Given the description of an element on the screen output the (x, y) to click on. 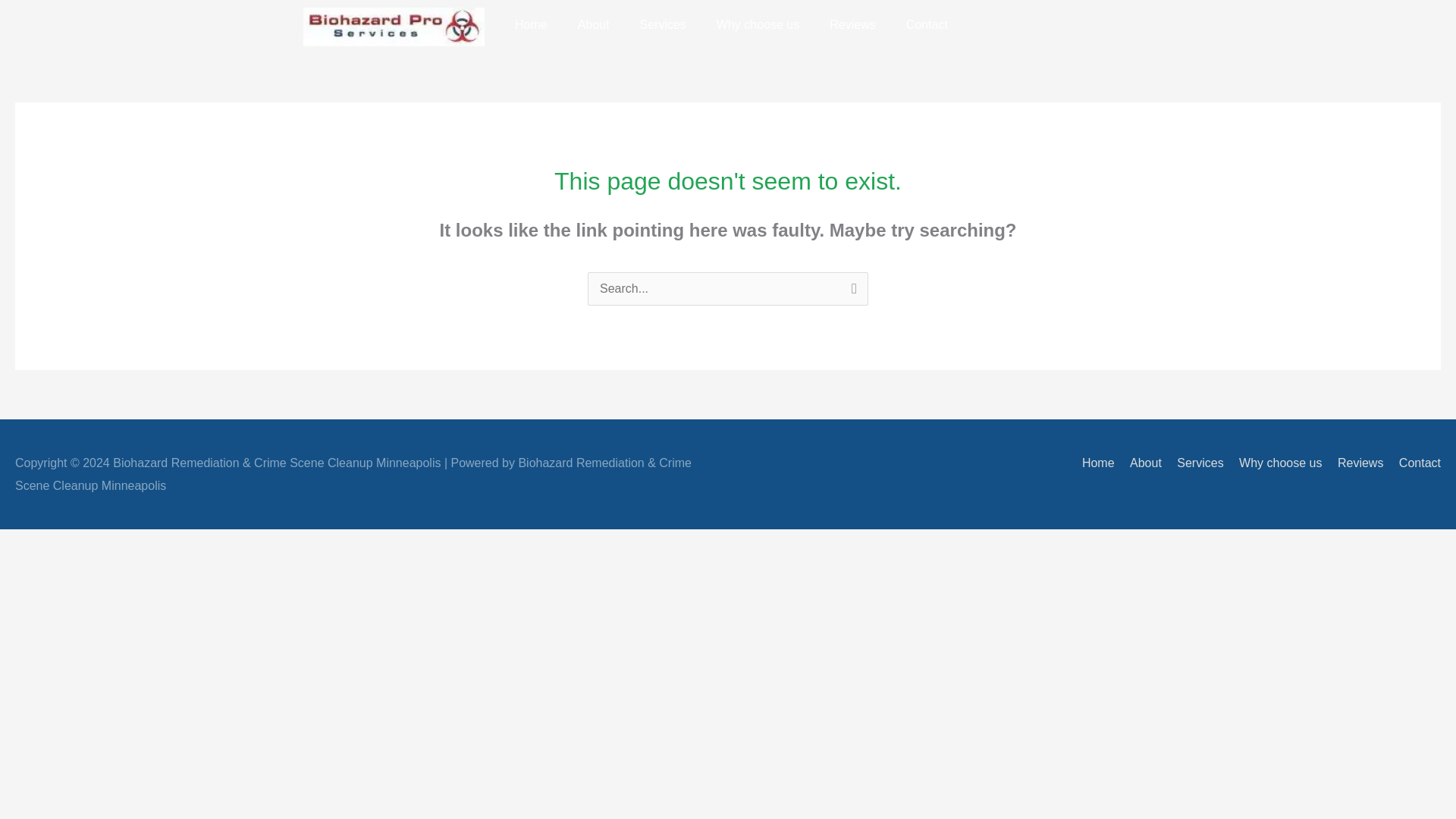
Why choose us (757, 24)
Contact (926, 24)
Why choose us (1274, 462)
Services (662, 24)
Home (530, 24)
Home (1092, 462)
About (1139, 462)
Contact (1414, 462)
Reviews (1353, 462)
Services (1193, 462)
